Given the description of an element on the screen output the (x, y) to click on. 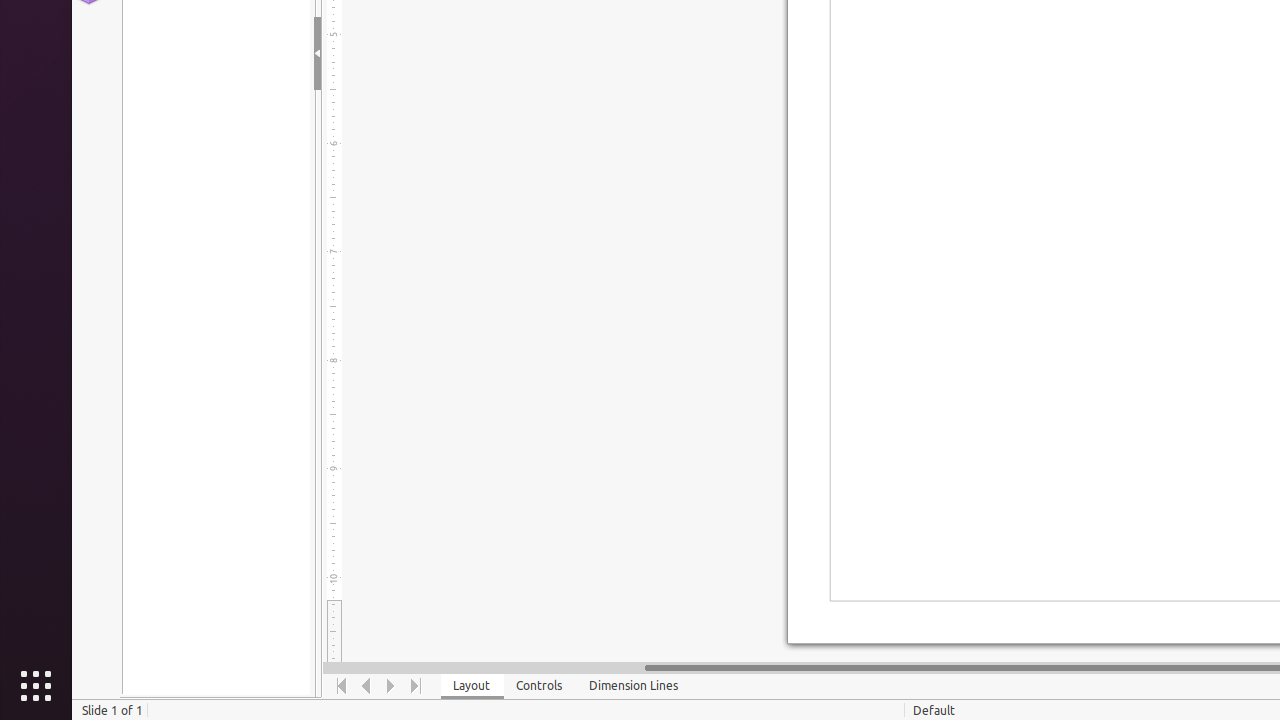
Move To Home Element type: push-button (341, 686)
Dimension Lines Element type: page-tab (634, 686)
Show Applications Element type: toggle-button (36, 686)
